Given the description of an element on the screen output the (x, y) to click on. 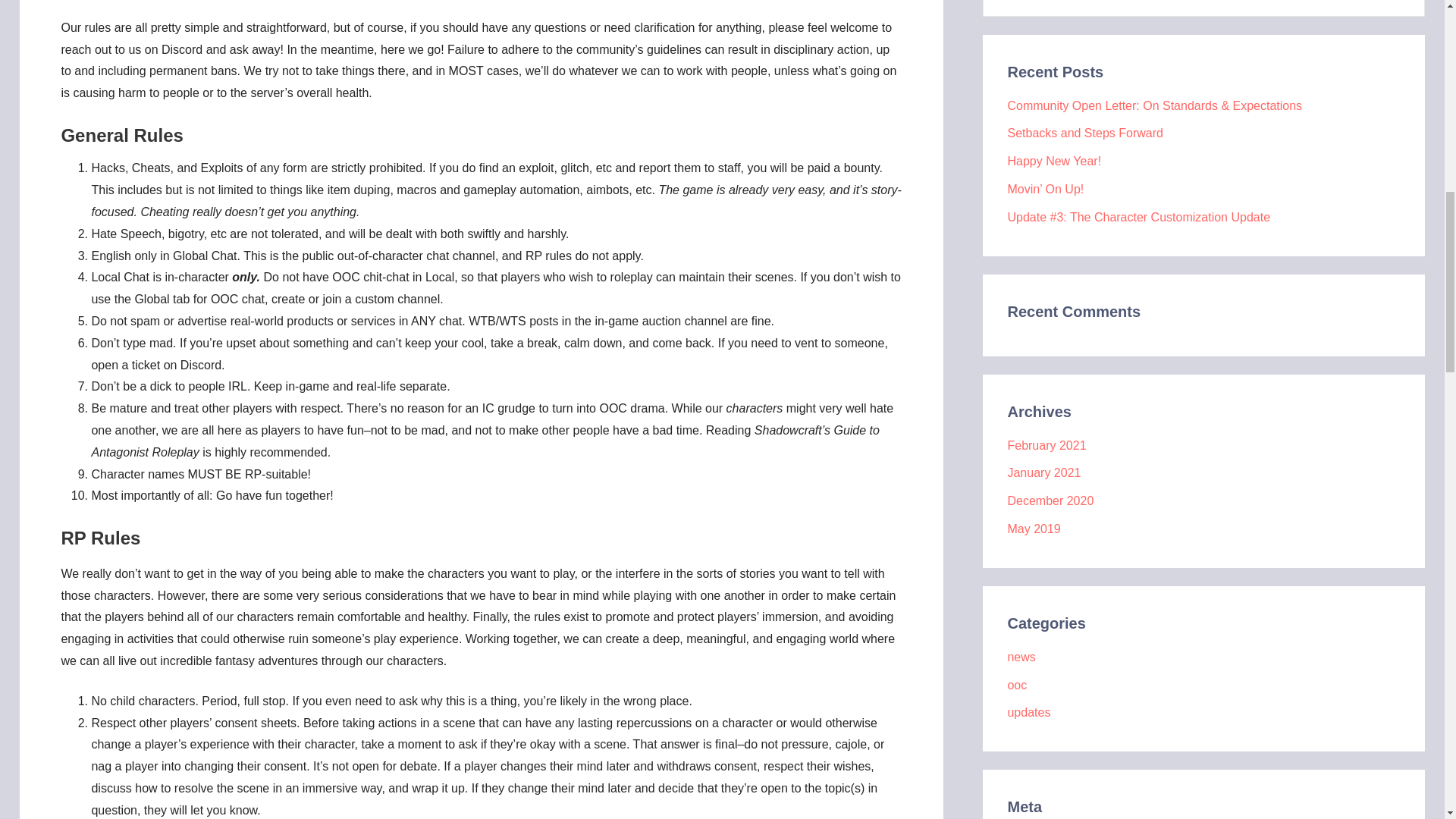
updates (1028, 712)
Setbacks and Steps Forward (1084, 132)
May 2019 (1033, 528)
Happy New Year! (1053, 160)
December 2020 (1050, 500)
news (1021, 656)
February 2021 (1046, 445)
January 2021 (1043, 472)
ooc (1016, 684)
